Given the description of an element on the screen output the (x, y) to click on. 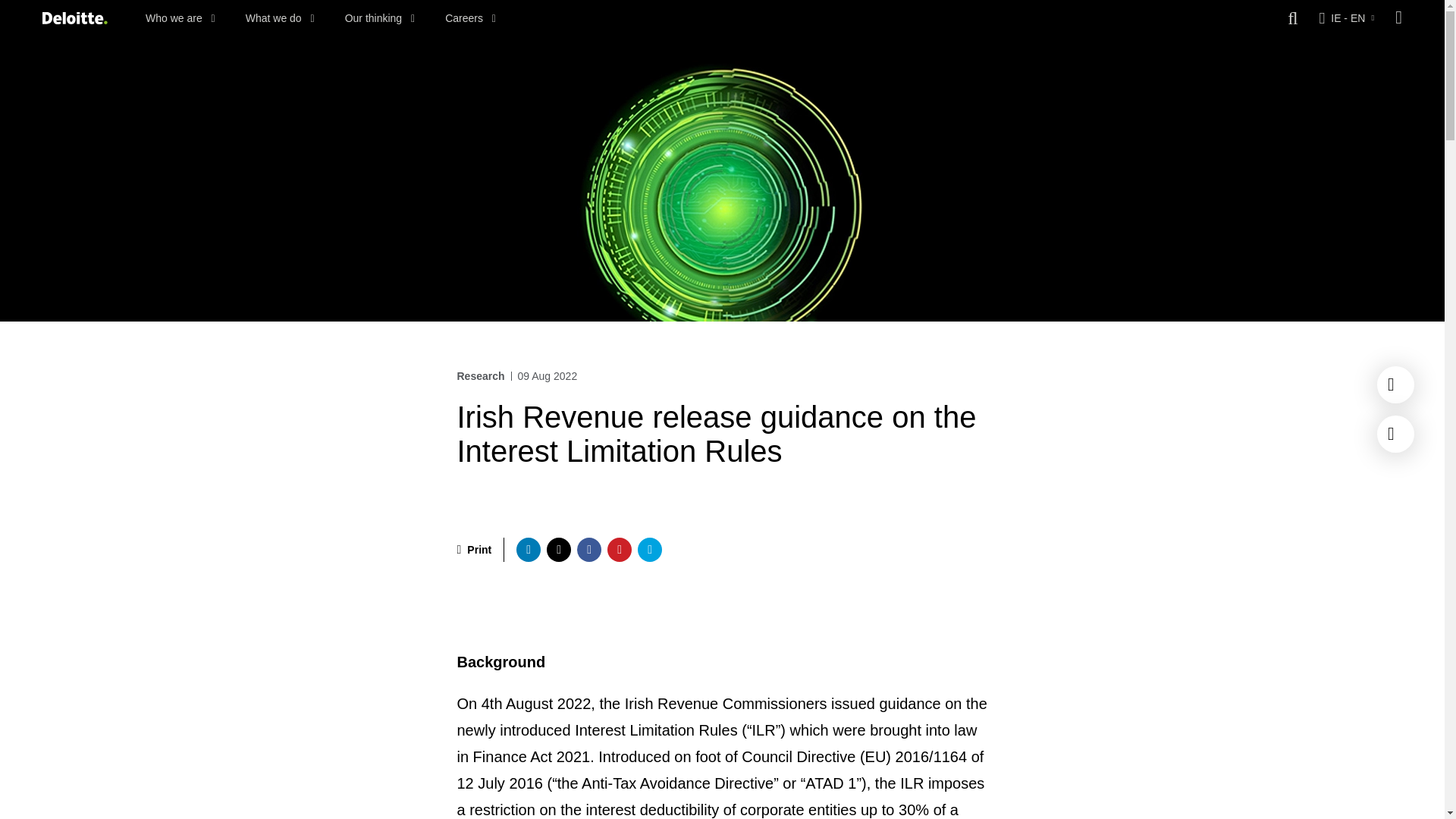
Who we are (180, 18)
share via... (619, 549)
What we do (280, 18)
Deloitte (74, 18)
share via... (588, 549)
share via... (528, 549)
Our thinking (379, 18)
Careers (470, 18)
share via... (649, 549)
Print (474, 549)
